Given the description of an element on the screen output the (x, y) to click on. 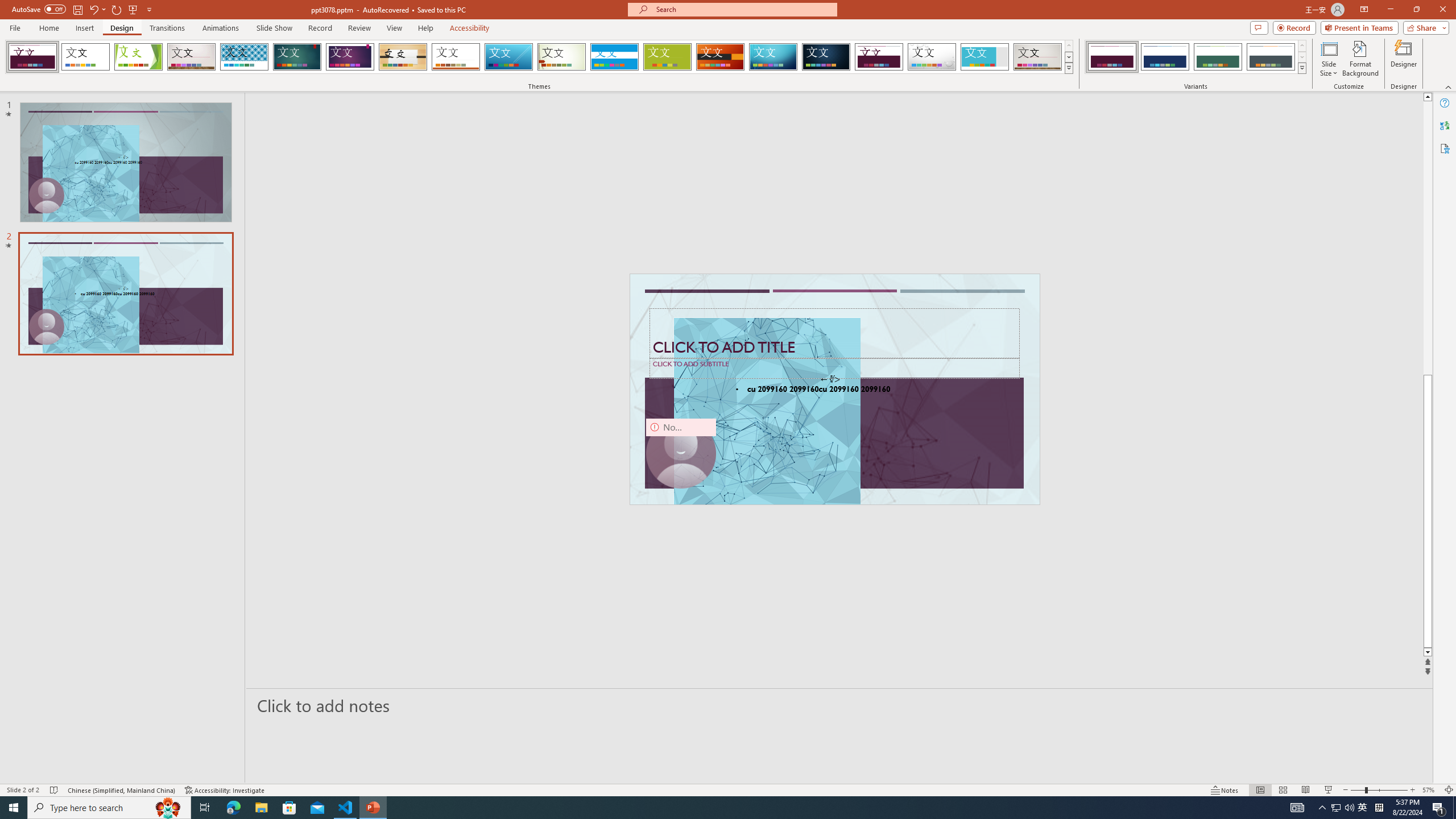
Wisp (561, 56)
TextBox 7 (830, 379)
